Given the description of an element on the screen output the (x, y) to click on. 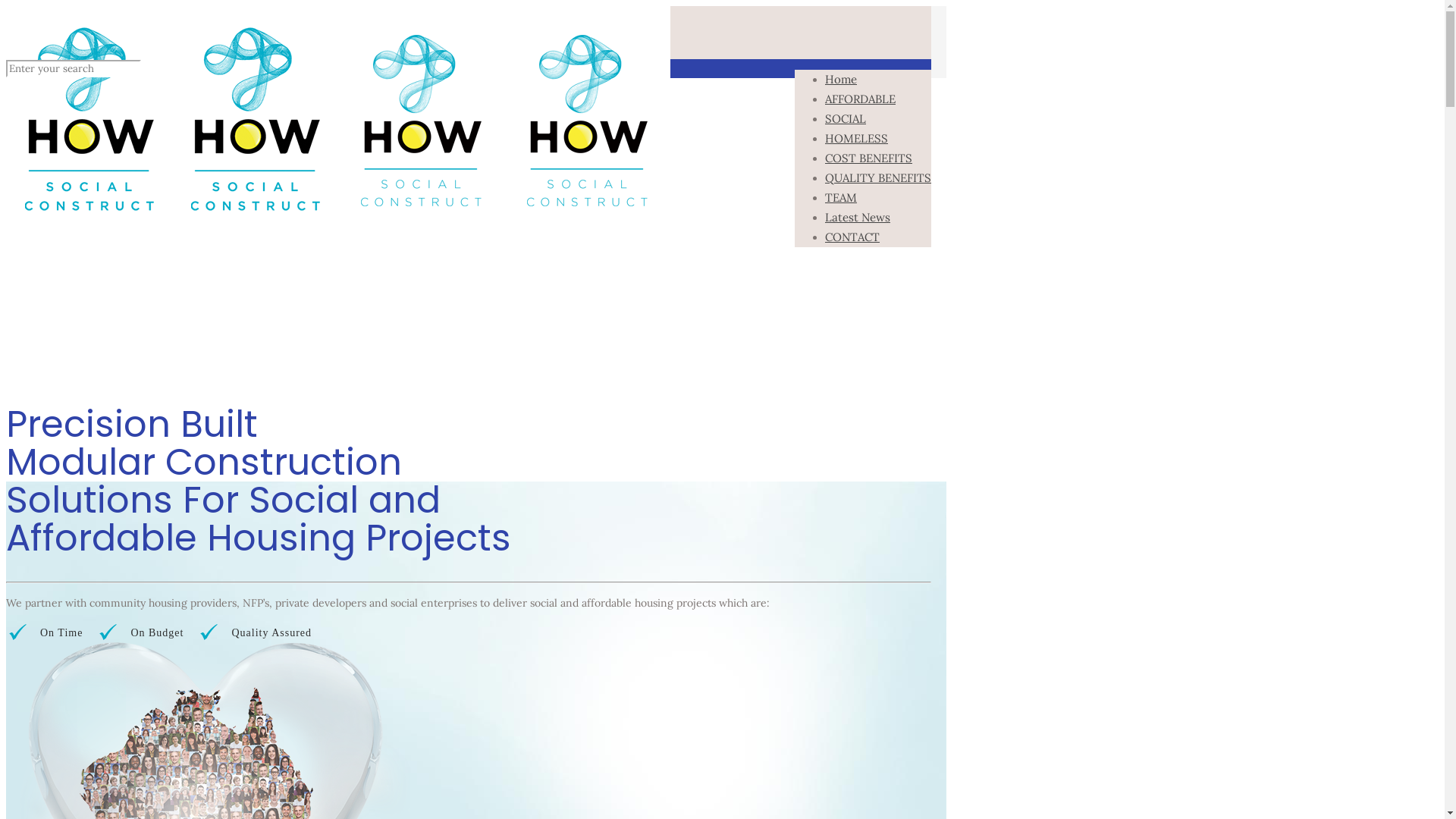
Home Element type: text (840, 79)
TEAM Element type: text (840, 197)
SOCIAL Element type: text (845, 118)
How Social Construct Element type: hover (338, 222)
AFFORDABLE Element type: text (860, 98)
Latest News Element type: text (857, 217)
COST BENEFITS Element type: text (868, 158)
HOMELESS Element type: text (856, 138)
CONTACT Element type: text (852, 236)
QUALITY BENEFITS Element type: text (878, 177)
